Given the description of an element on the screen output the (x, y) to click on. 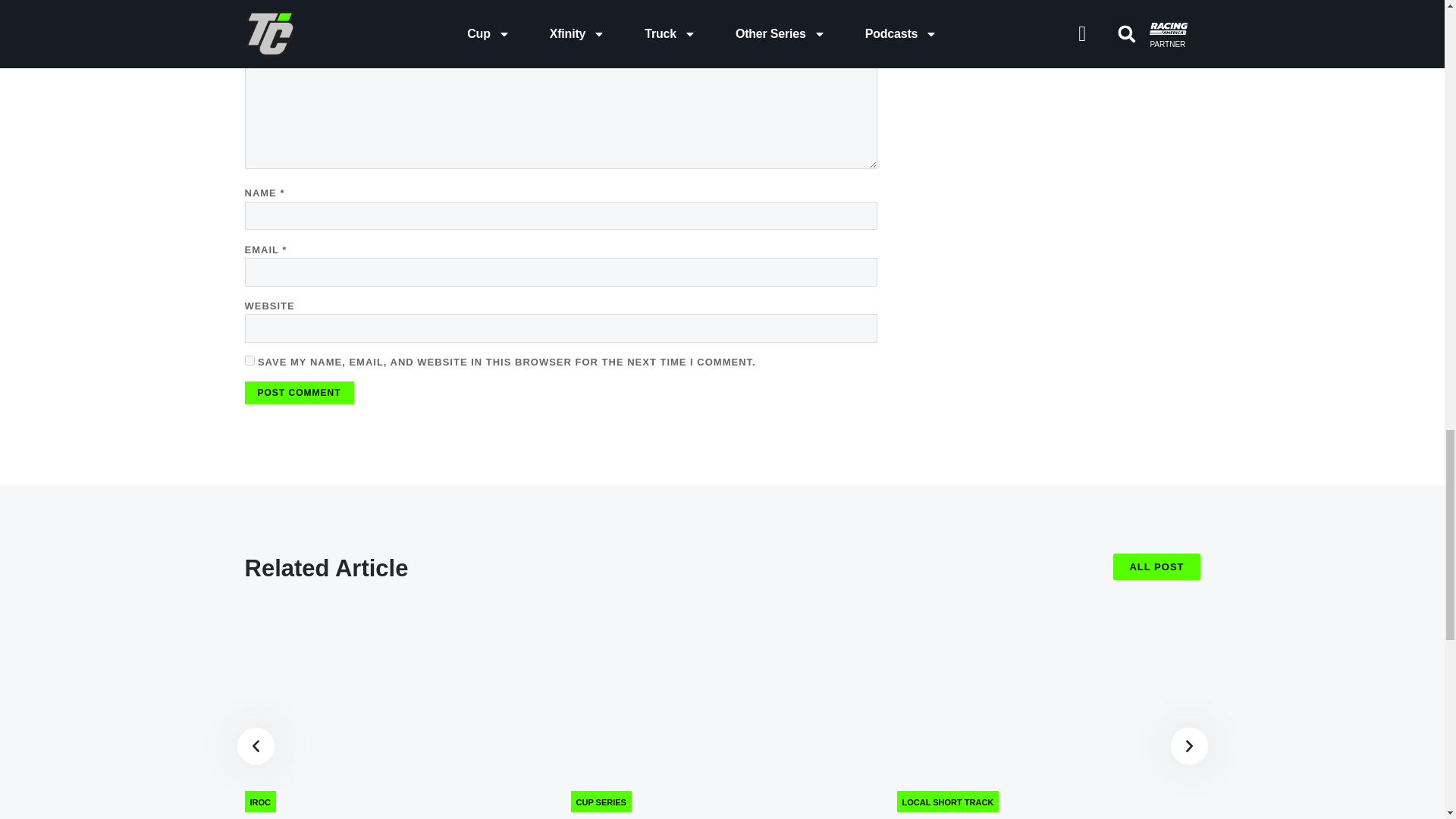
Post Comment (298, 392)
yes (248, 360)
